Given the description of an element on the screen output the (x, y) to click on. 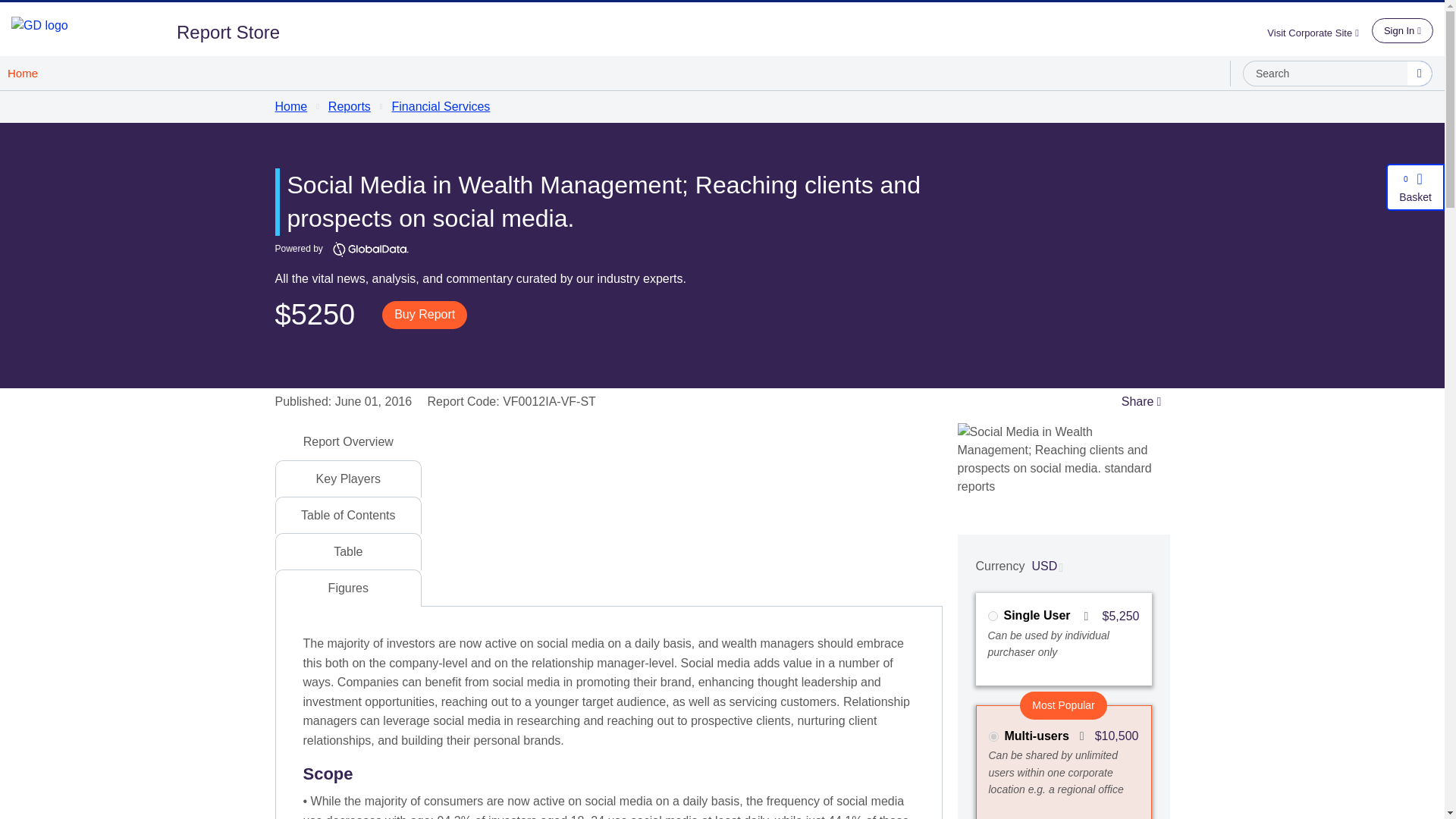
909221 (993, 737)
Visit Corporate Site (1318, 31)
909220 (992, 615)
Home (22, 73)
Sign In (1401, 30)
